Given the description of an element on the screen output the (x, y) to click on. 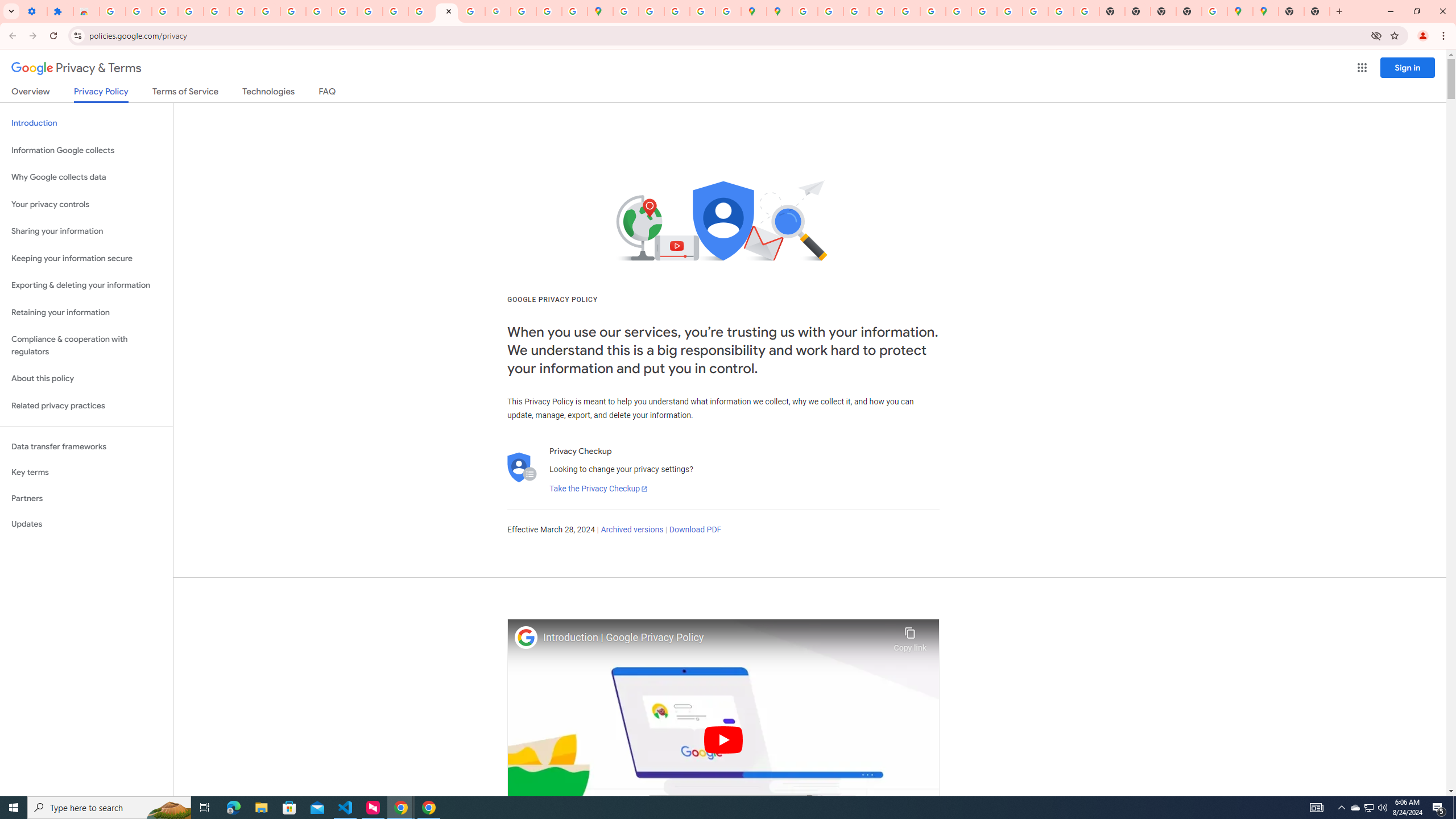
Sharing your information (86, 230)
Photo image of Google (526, 636)
Your privacy controls (86, 204)
Copy link (909, 636)
